Given the description of an element on the screen output the (x, y) to click on. 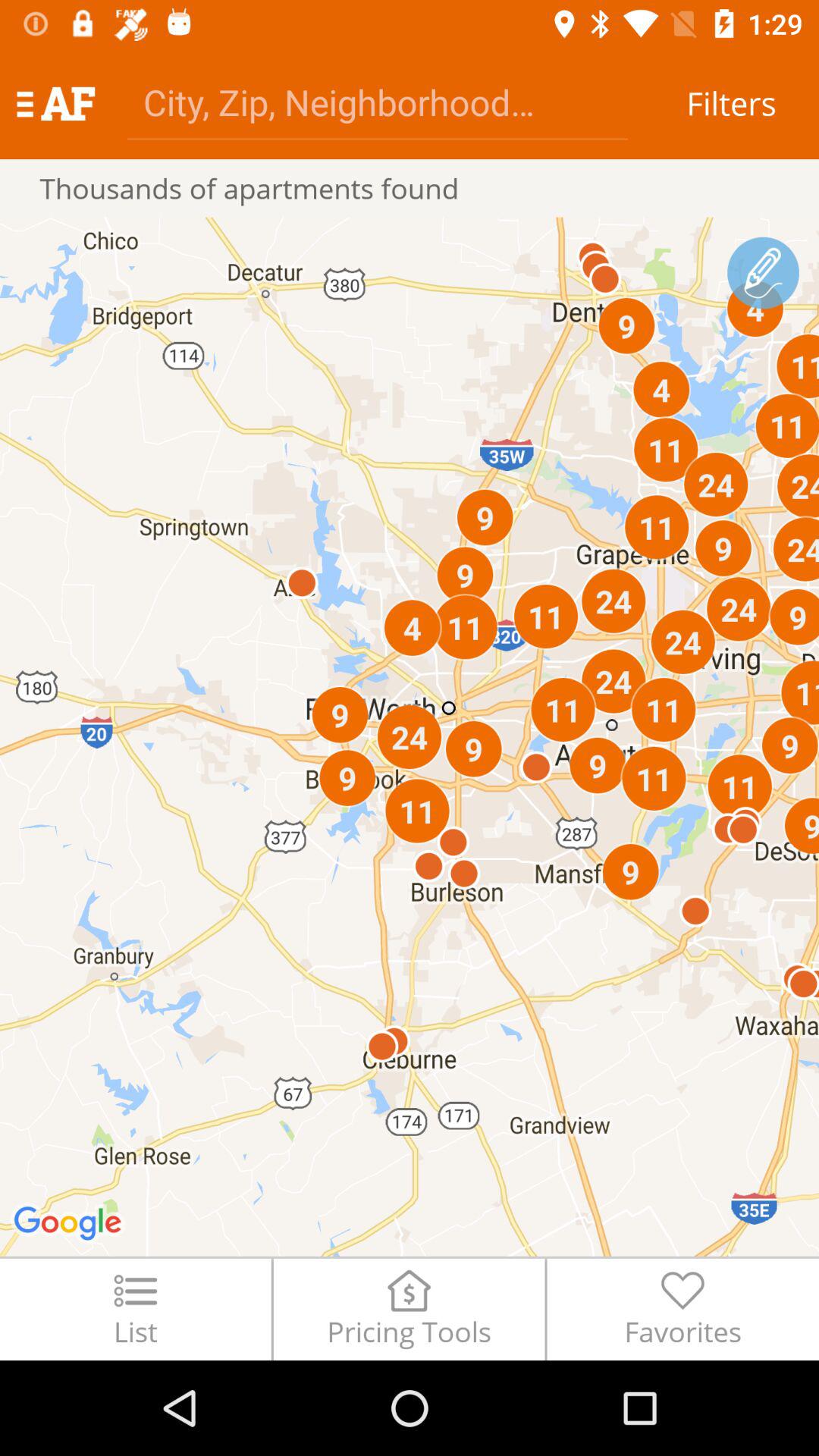
turn on the icon above the thousands of apartments item (55, 103)
